Given the description of an element on the screen output the (x, y) to click on. 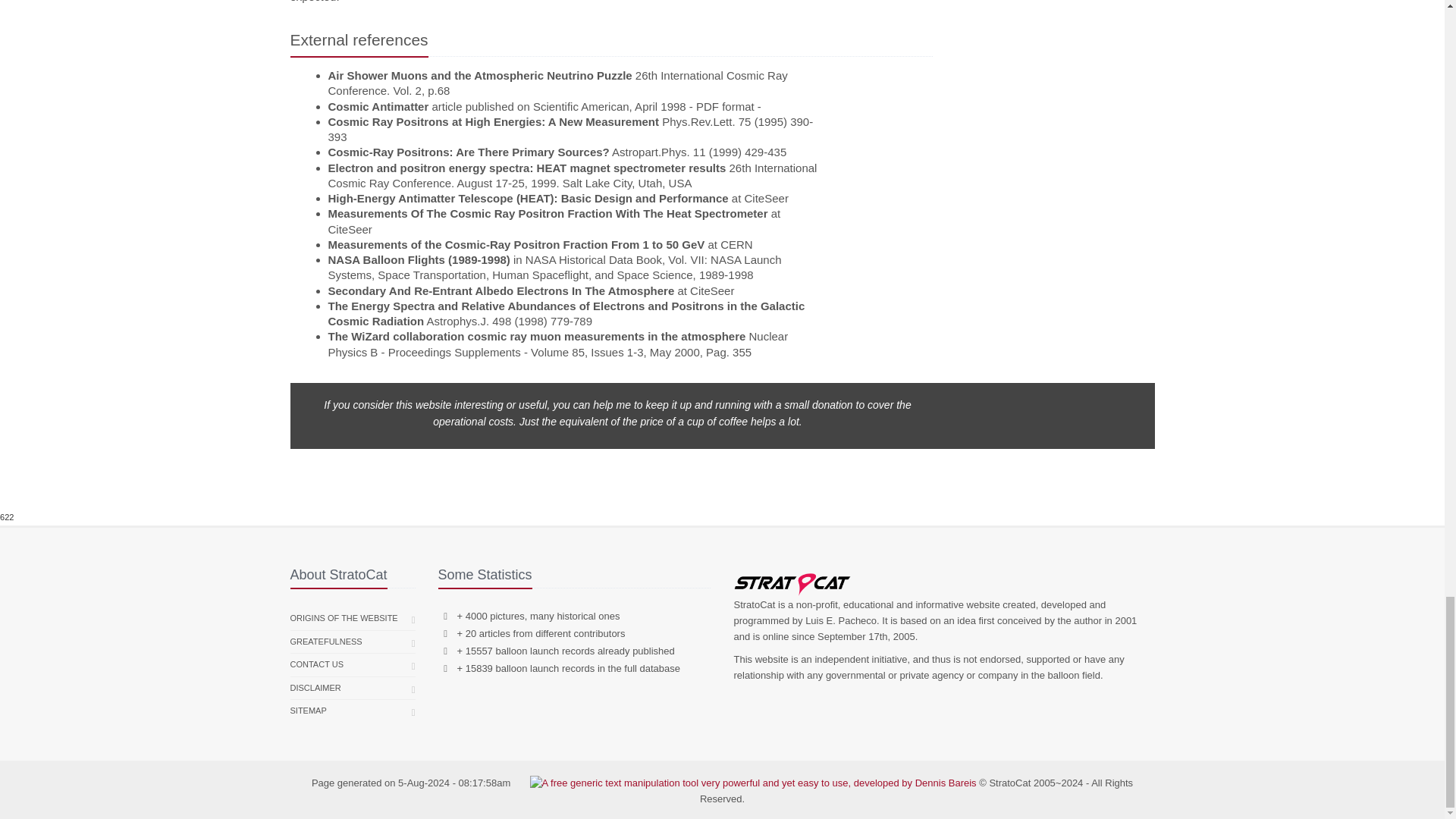
ORIGINS OF THE WEBSITE (343, 618)
DISCLAIMER (314, 688)
Secondary And Re-Entrant Albedo Electrons In The Atmosphere (500, 290)
CONTACT US (316, 664)
GREATEFULNESS (325, 641)
Cosmic Ray Positrons at High Energies: A New Measurement (493, 121)
Cosmic-Ray Positrons: Are There Primary Sources? (467, 151)
Cosmic Antimatter (377, 106)
Air Shower Muons and the Atmospheric Neutrino Puzzle (479, 74)
